Given the description of an element on the screen output the (x, y) to click on. 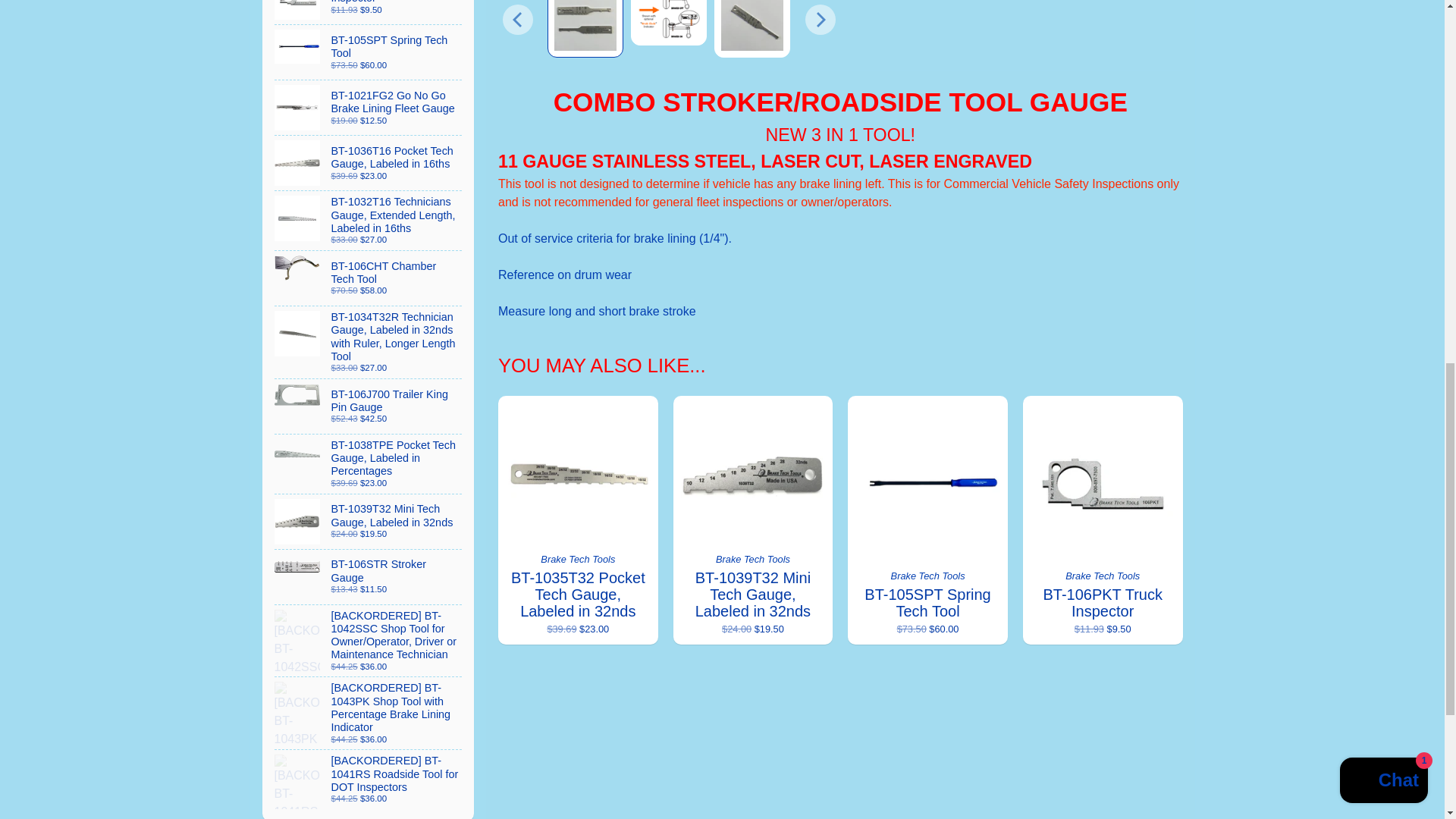
BT-106STR Stroker Gauge (369, 576)
BT-106CHT Chamber Tech Tool (369, 277)
BT-106J700 Trailer King Pin Gauge (369, 406)
BT-1036T16 Pocket Tech Gauge, Labeled in 16ths (369, 162)
BT-106PKT Truck Inspector (369, 12)
BT-1038TPE Pocket Tech Gauge, Labeled in Percentages (369, 463)
BT-105SPT Spring Tech Tool (369, 52)
BT-1021FG2 Go No Go Brake Lining Fleet Gauge (369, 107)
BT-1039T32 Mini Tech Gauge, Labeled in 32nds (369, 521)
